Given the description of an element on the screen output the (x, y) to click on. 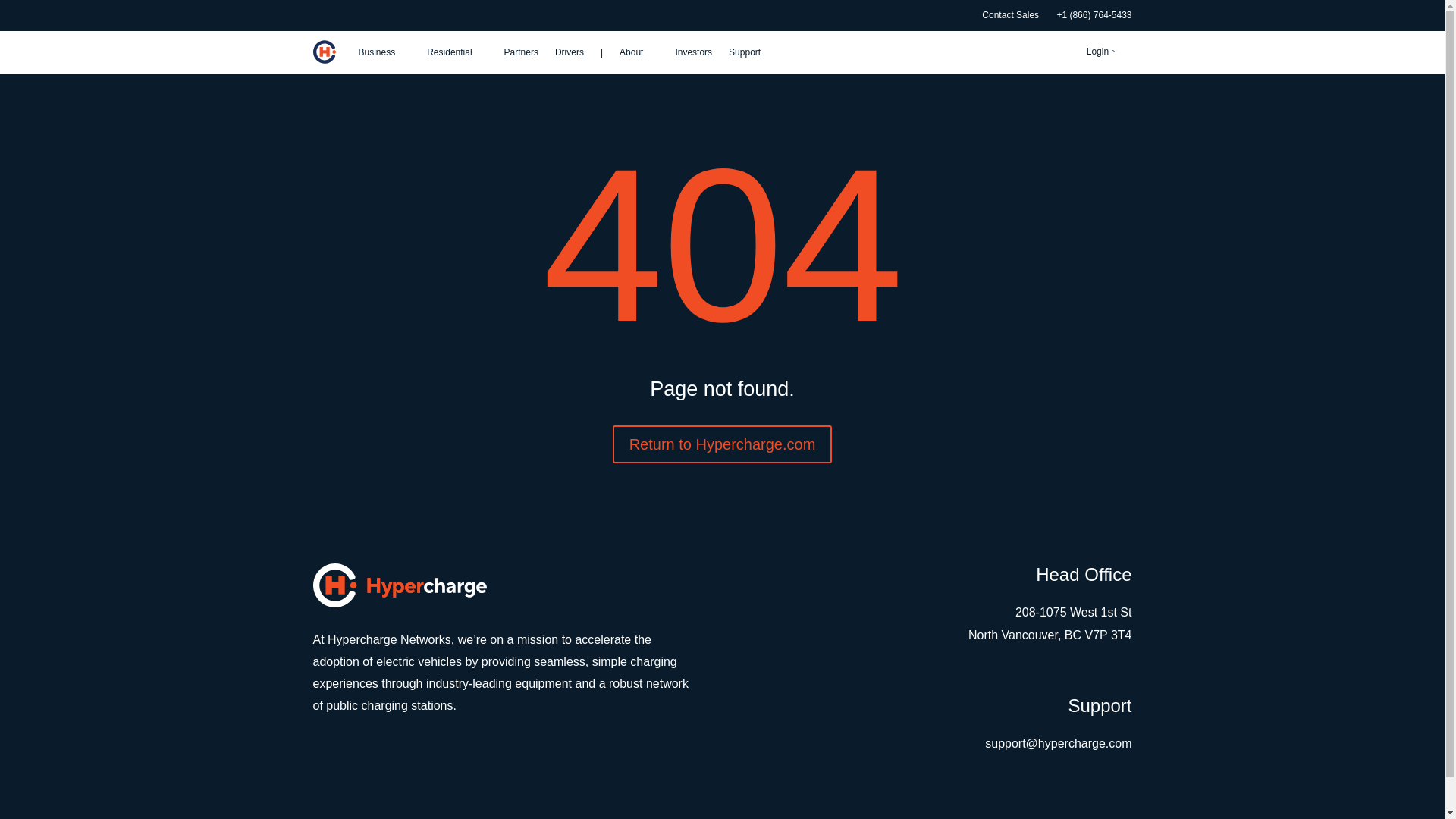
Contact Sales (1010, 14)
HC-Horizontal-W (399, 585)
Business (384, 52)
Return to Hypercharge.com (722, 444)
Residential (456, 52)
